Given the description of an element on the screen output the (x, y) to click on. 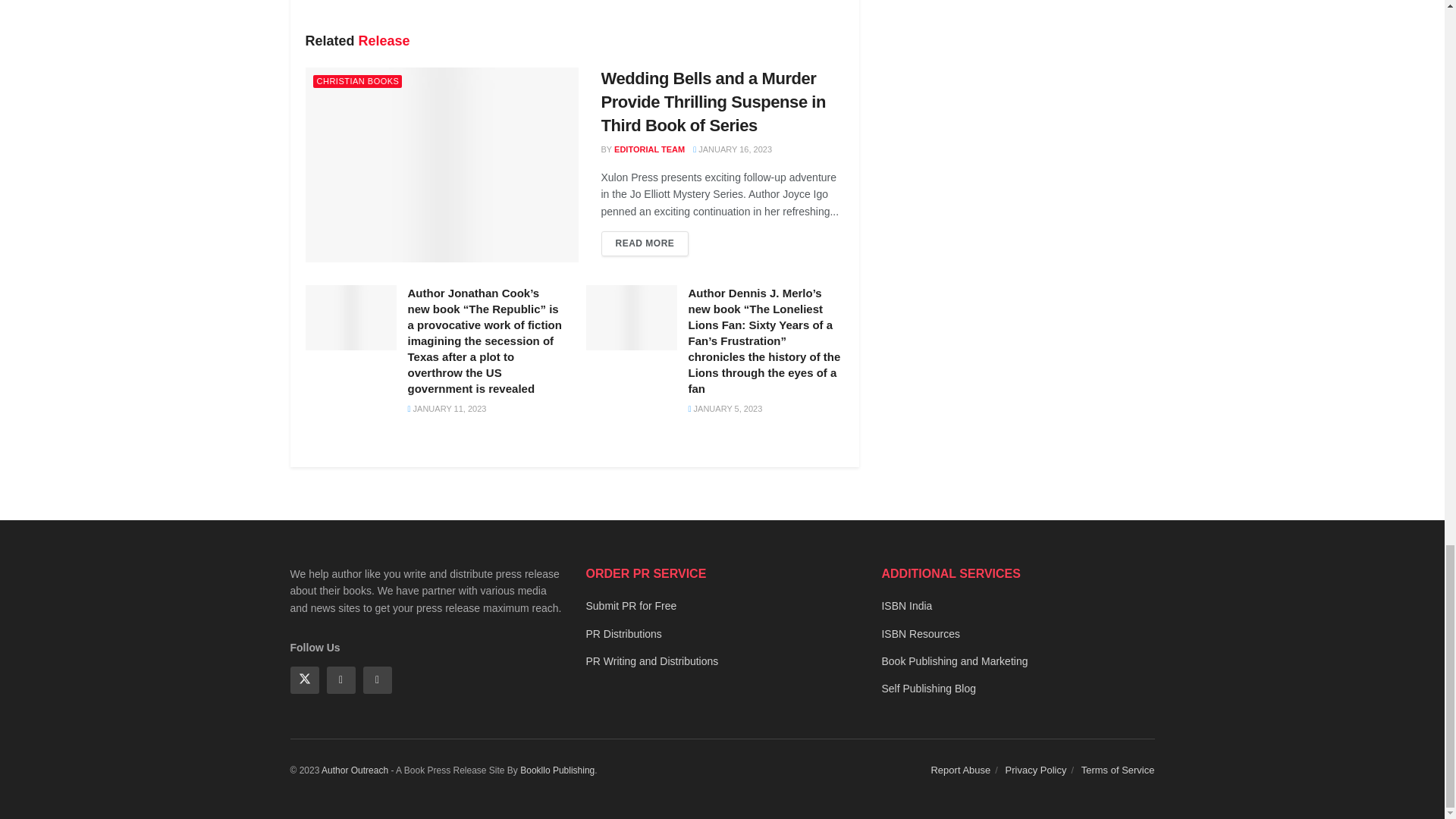
JANUARY 16, 2023 (732, 148)
CHRISTIAN BOOKS (357, 81)
READ MORE (643, 243)
Book Publishing Services (556, 769)
Latest Book Press Release and Author Interviews (354, 769)
EDITORIAL TEAM (649, 148)
